Given the description of an element on the screen output the (x, y) to click on. 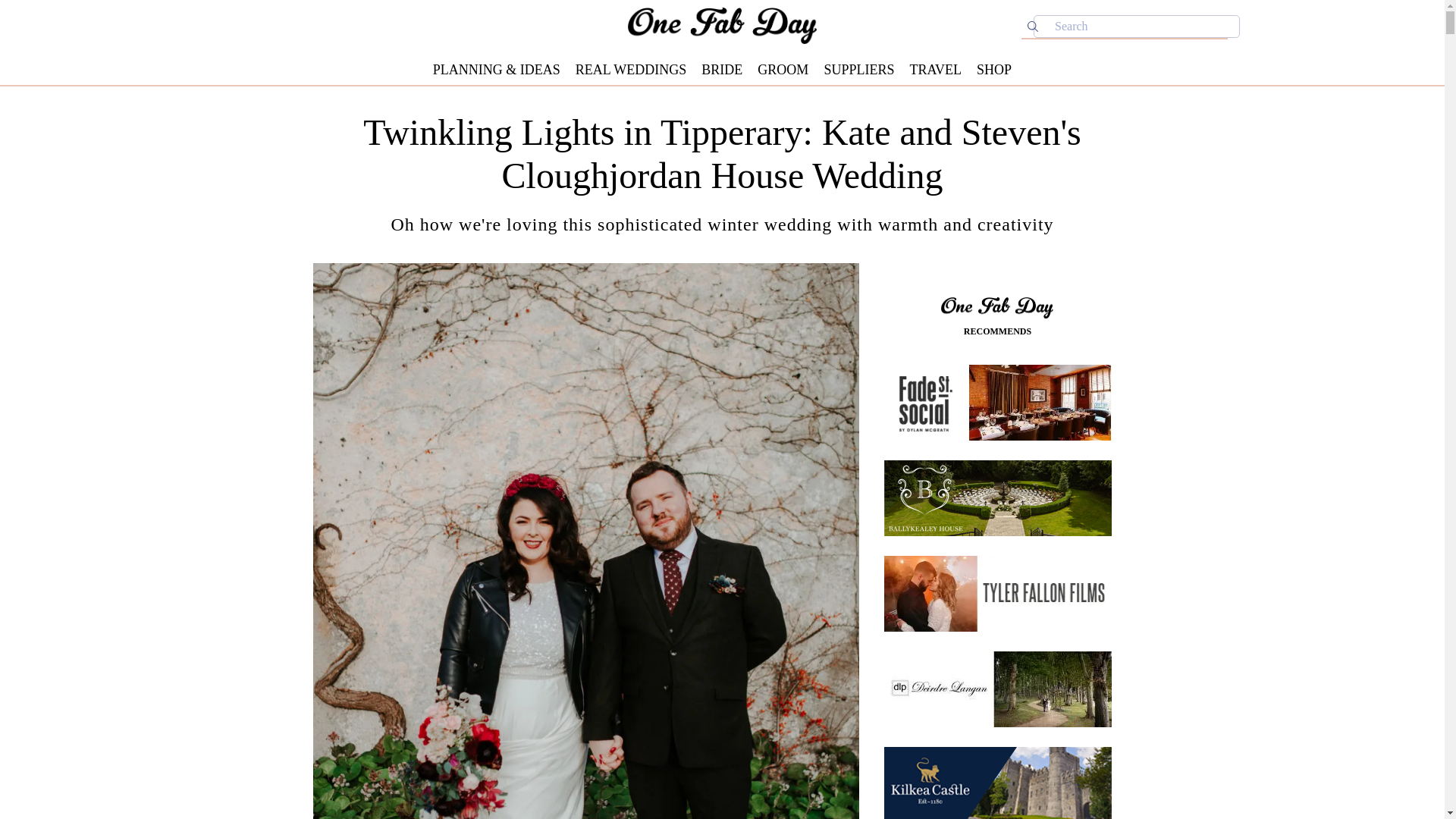
Submit the search query (1033, 26)
REAL WEDDINGS (630, 70)
